Given the description of an element on the screen output the (x, y) to click on. 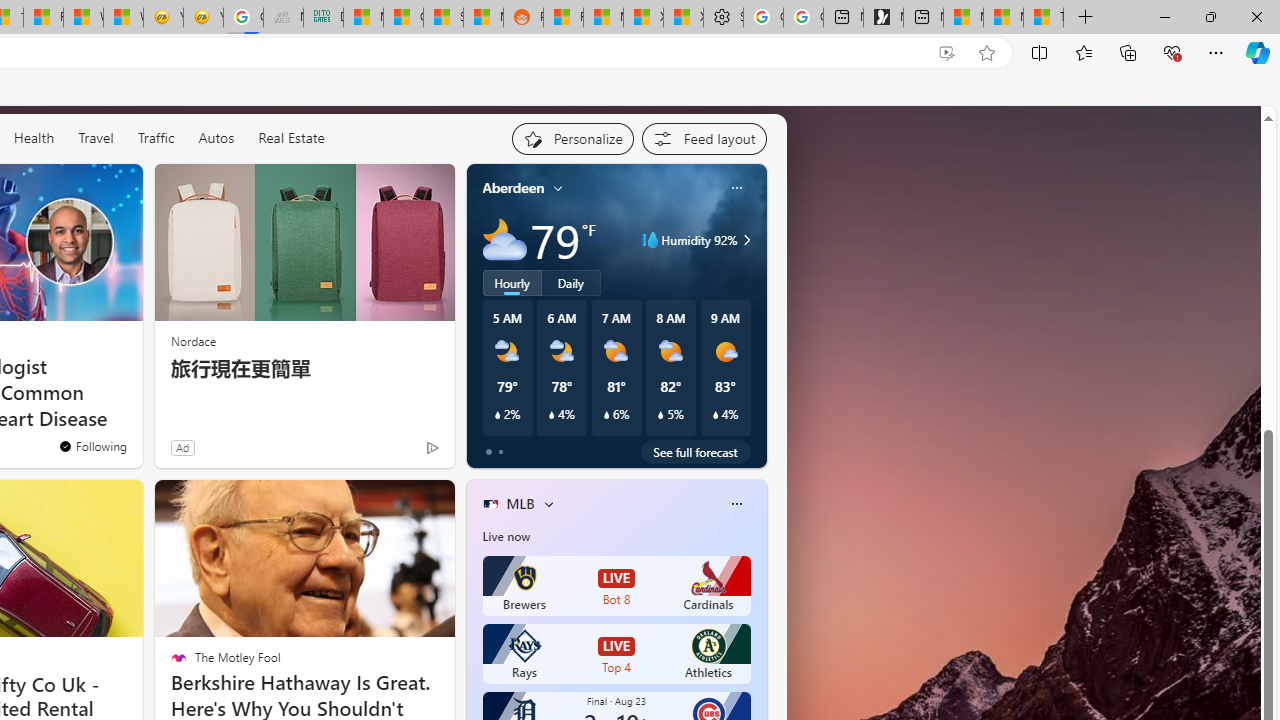
Mostly cloudy (504, 240)
Rays LIVE Top 4 Athletics (616, 654)
